Given the description of an element on the screen output the (x, y) to click on. 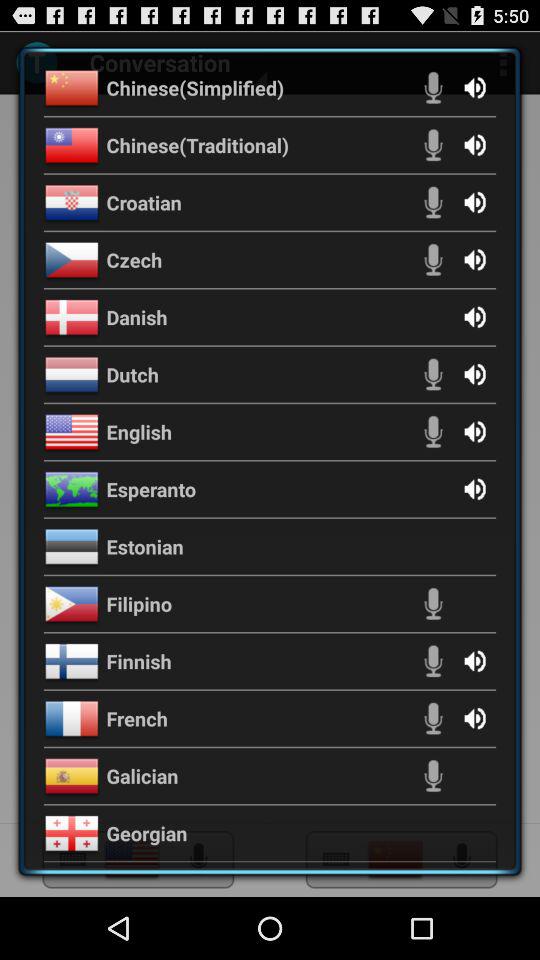
open the app above french icon (138, 661)
